Given the description of an element on the screen output the (x, y) to click on. 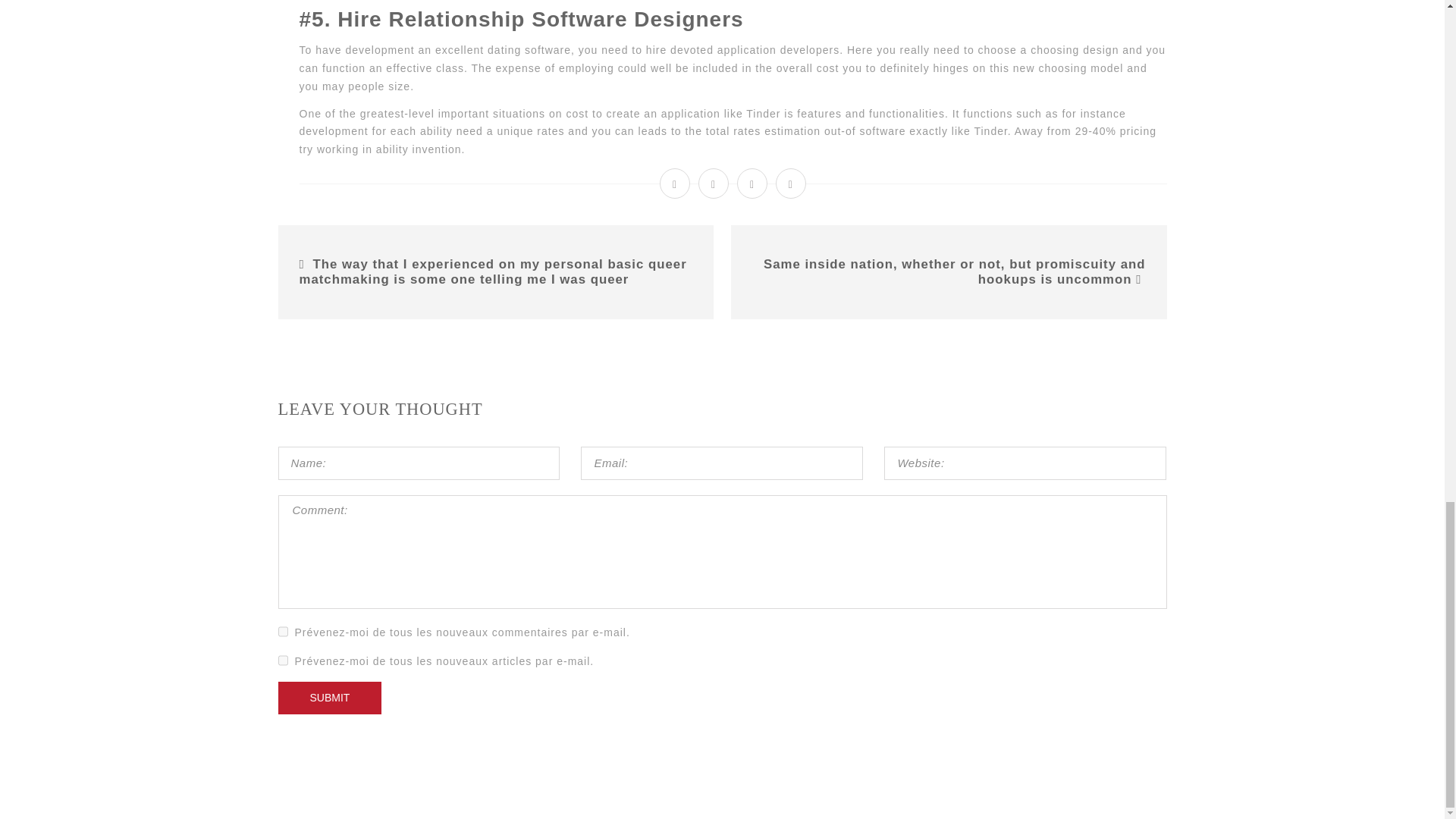
Share on Facebook (674, 183)
Submit (329, 697)
Share on Pinterest (791, 183)
Submit (329, 697)
Share on Twitter (713, 183)
